Given the description of an element on the screen output the (x, y) to click on. 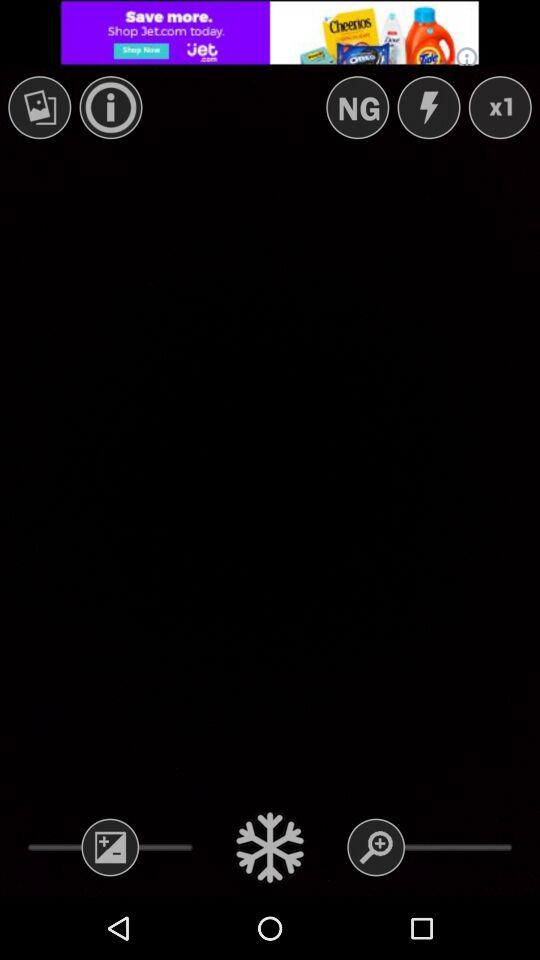
menu (269, 847)
